Given the description of an element on the screen output the (x, y) to click on. 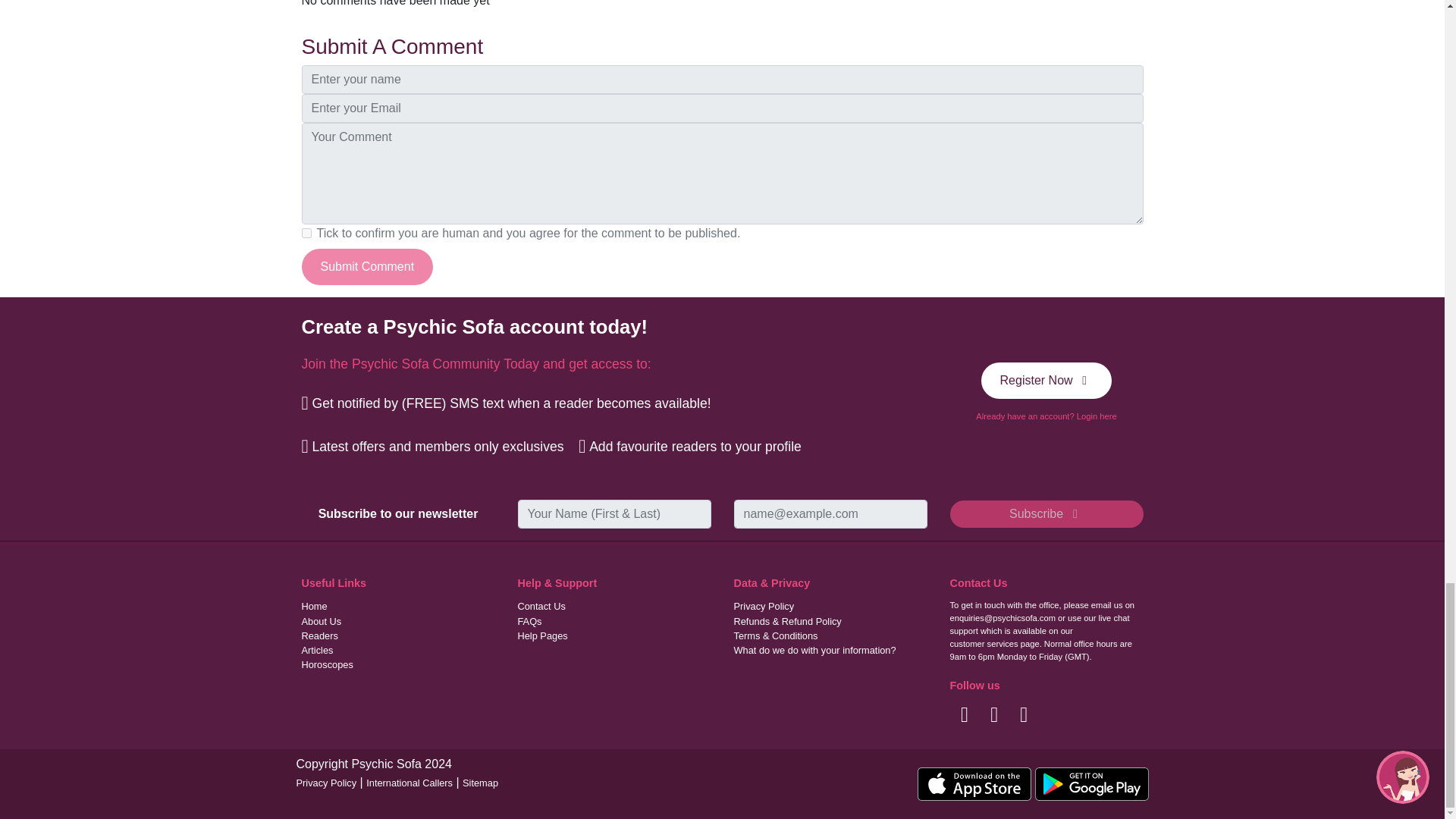
Login (1045, 416)
on (306, 233)
Register (1046, 380)
